Given the description of an element on the screen output the (x, y) to click on. 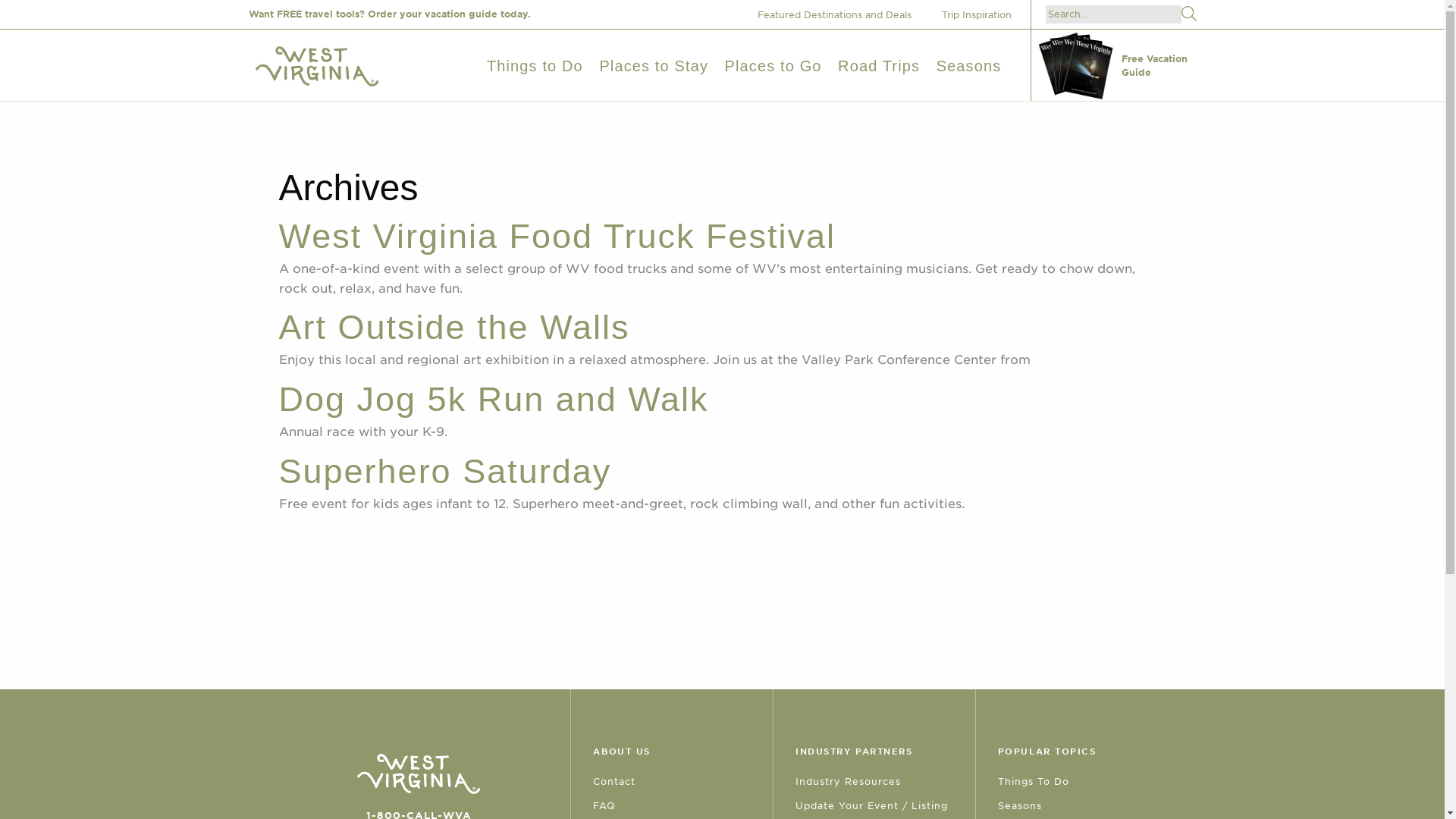
Superhero Saturday (445, 471)
Seasons (968, 65)
Places to Stay (652, 65)
Art Outside the Walls (454, 326)
Featured Destinations and Deals (839, 14)
Trip Inspiration (982, 14)
Things to Do (534, 65)
Dog Jog 5k Run and Walk (494, 399)
Road Trips (879, 65)
Free Vacation Guide (1116, 65)
Want FREE travel tools? Order your vacation guide today. (389, 14)
West Virginia Food Truck Festival (557, 236)
Places to Go (773, 65)
